Given the description of an element on the screen output the (x, y) to click on. 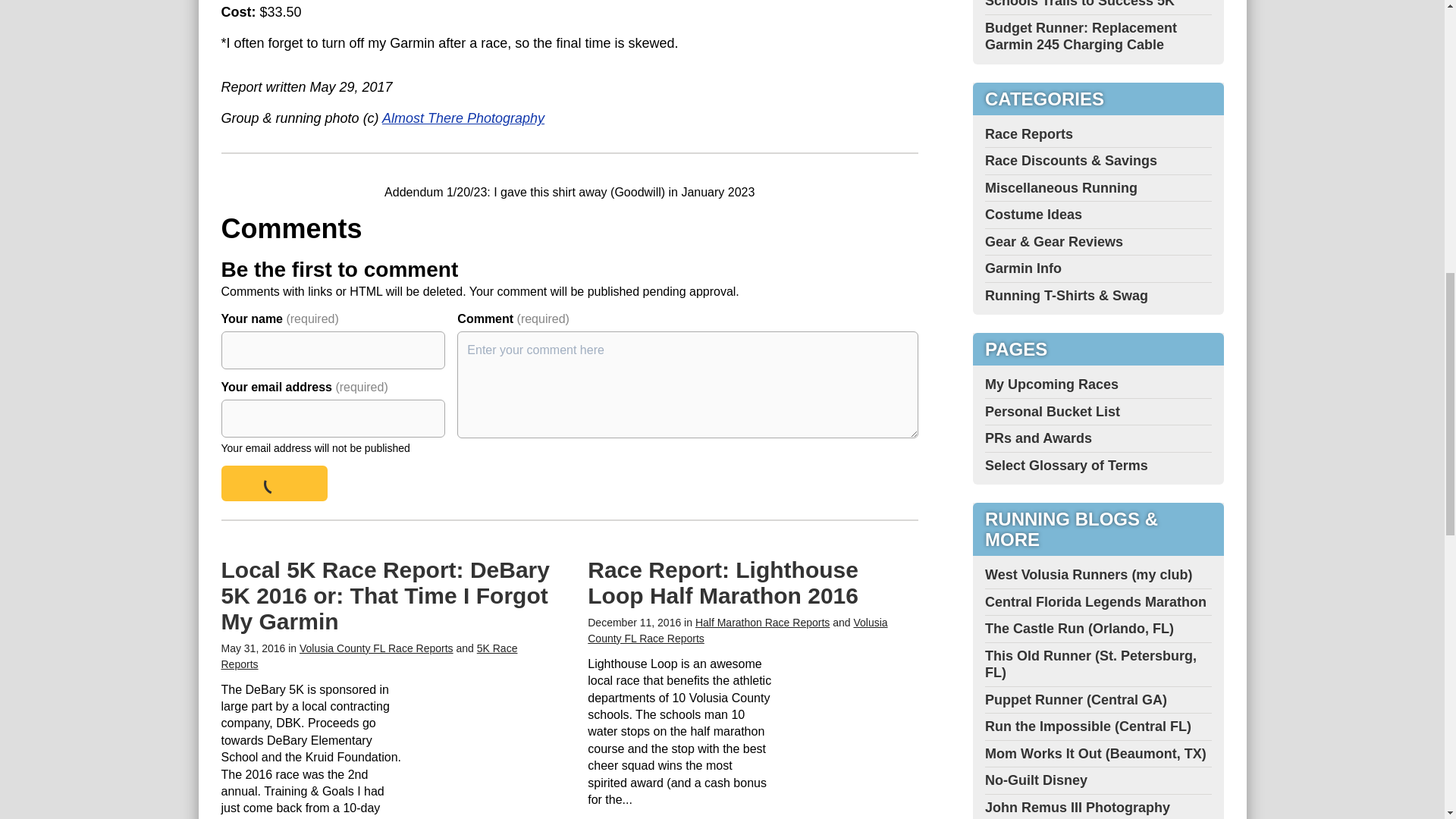
Volusia County FL Race Reports (375, 648)
5K Race Reports (369, 656)
Race Report: Lighthouse Loop Half Marathon 2016 (723, 582)
Half Marathon Race Reports (762, 622)
Volusia County FL Race Reports (737, 630)
Almost There Photography (462, 118)
